Given the description of an element on the screen output the (x, y) to click on. 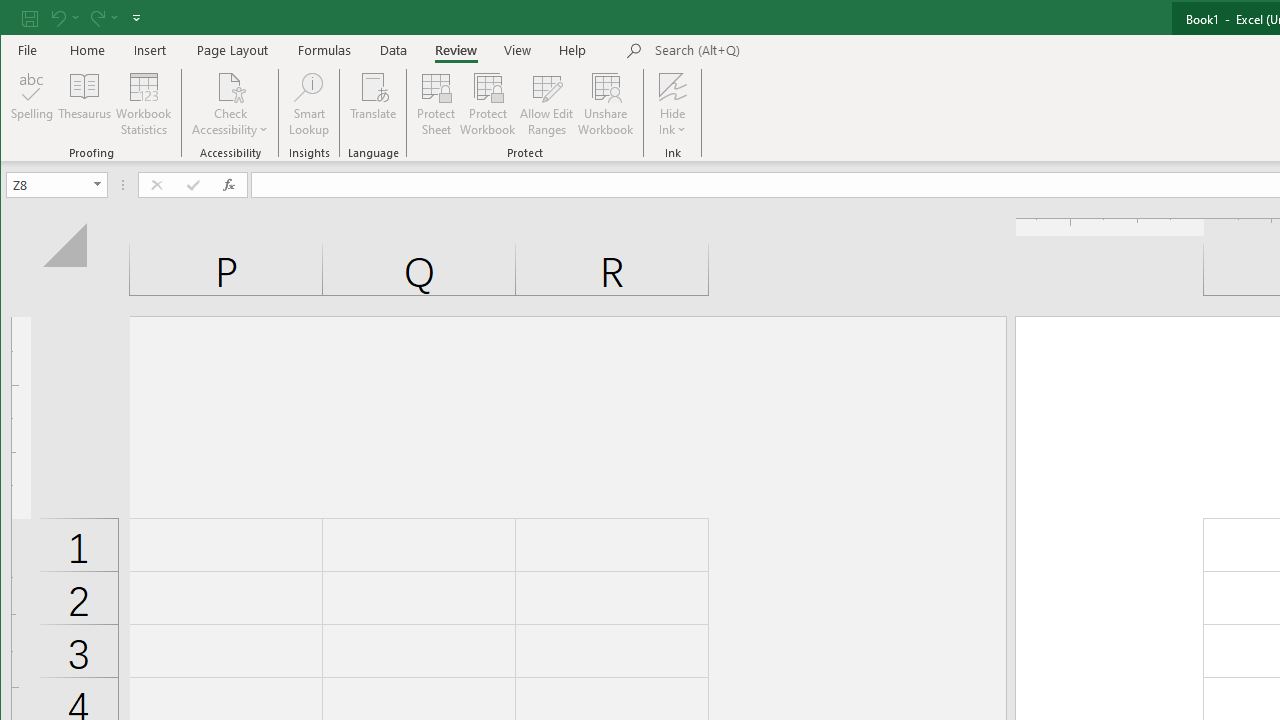
Smart Lookup (308, 104)
Translate (373, 104)
Thesaurus... (84, 104)
